Given the description of an element on the screen output the (x, y) to click on. 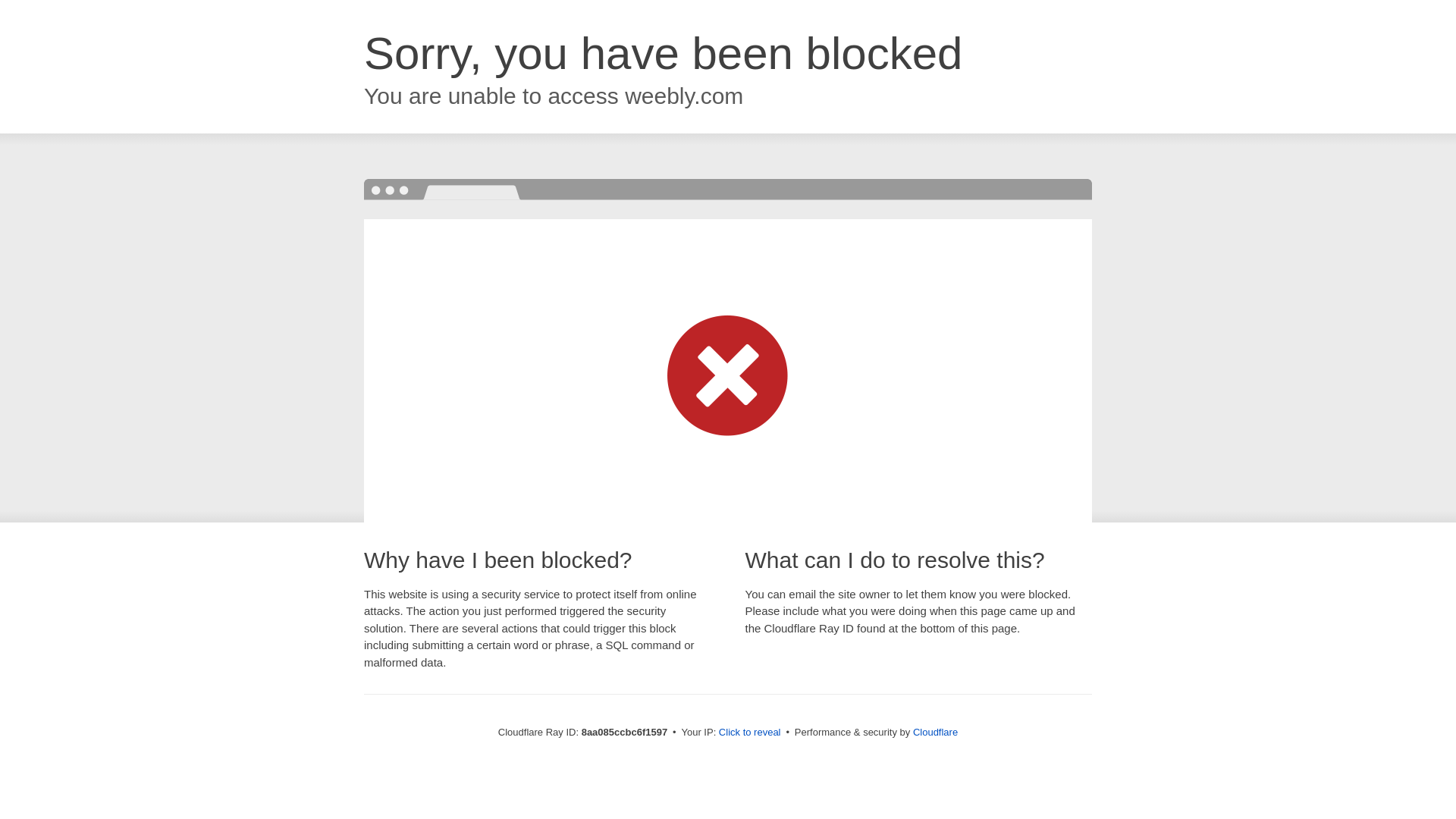
Cloudflare (935, 731)
Click to reveal (749, 732)
